Given the description of an element on the screen output the (x, y) to click on. 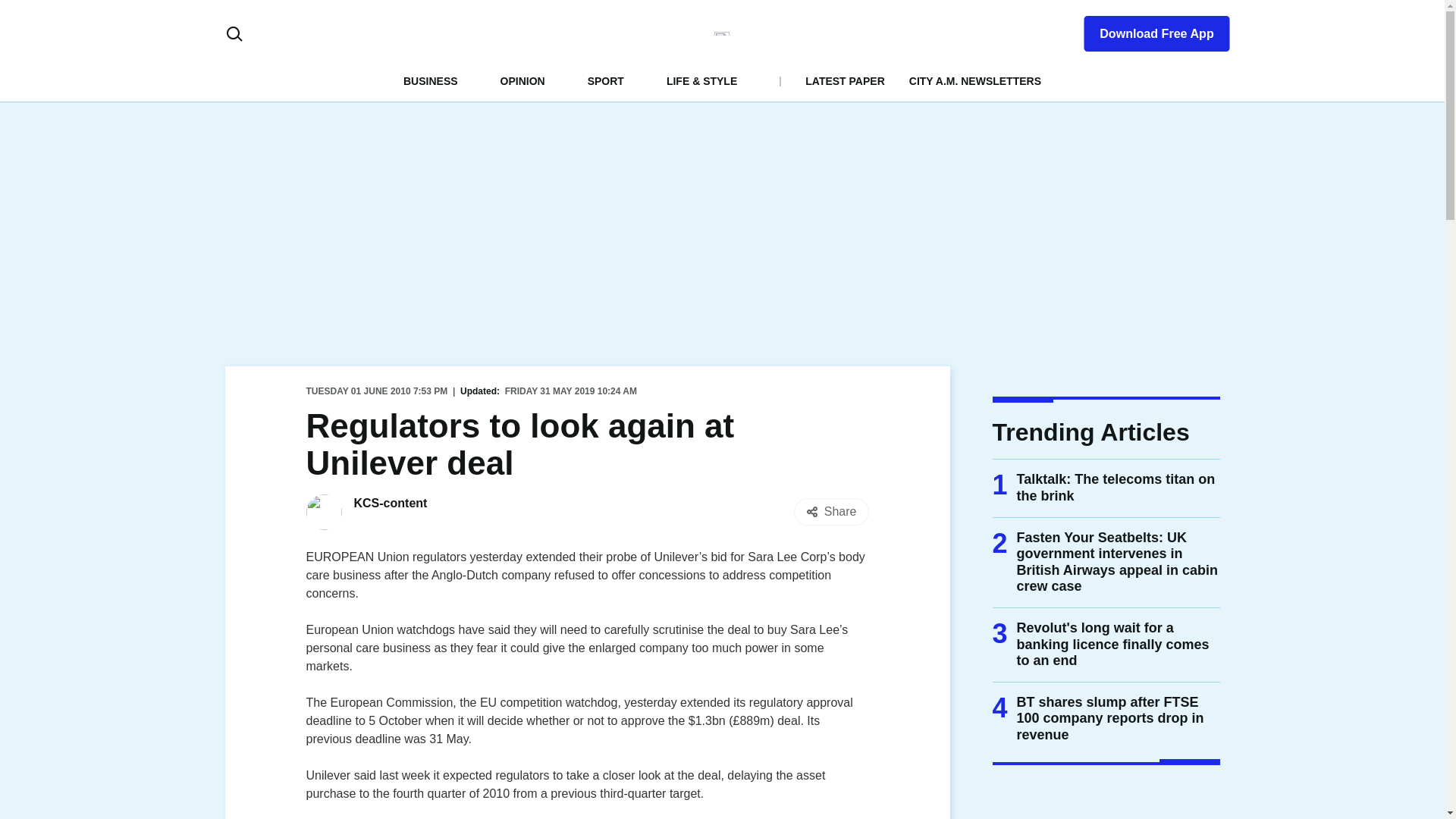
BUSINESS (430, 80)
Download Free App (1146, 30)
SPORT (606, 80)
CityAM (721, 33)
OPINION (522, 80)
